Given the description of an element on the screen output the (x, y) to click on. 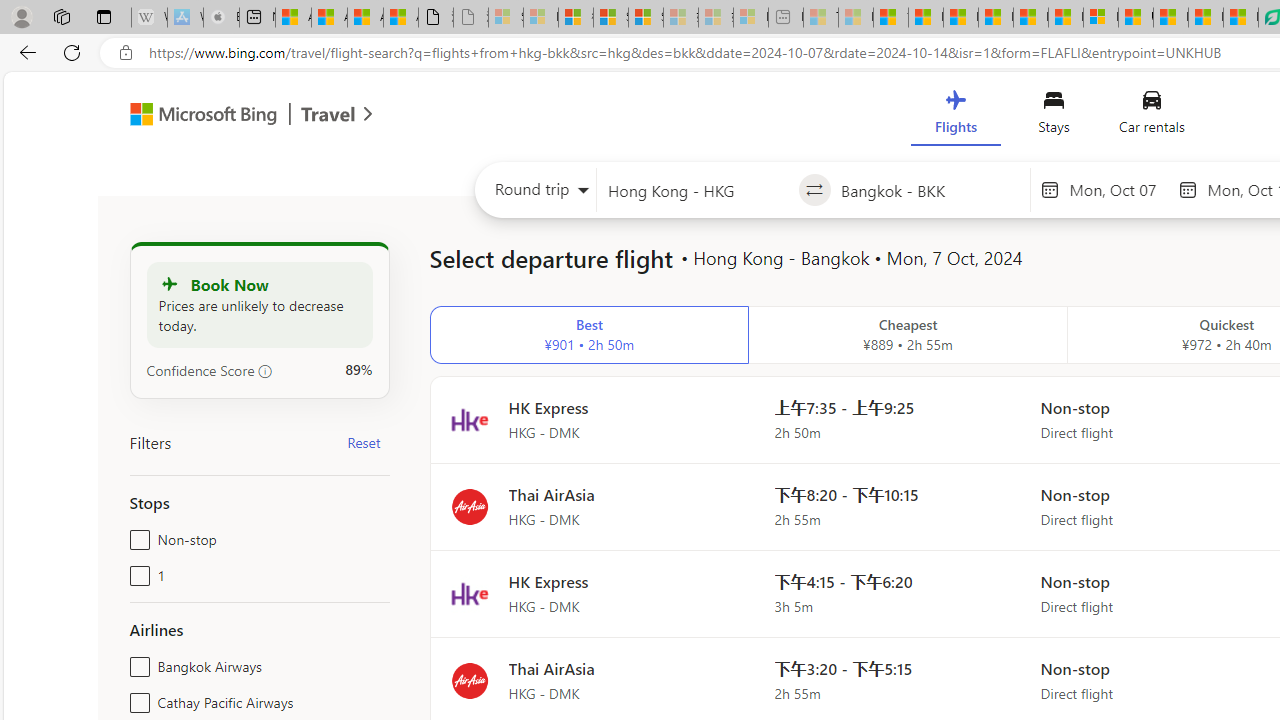
Marine life - MSN - Sleeping (855, 17)
Foo BAR | Trusted Community Engagement and Contributions (1065, 17)
Sign in to your Microsoft account - Sleeping (506, 17)
Aberdeen, Hong Kong SAR weather forecast | Microsoft Weather (329, 17)
Reset (363, 442)
